Given the description of an element on the screen output the (x, y) to click on. 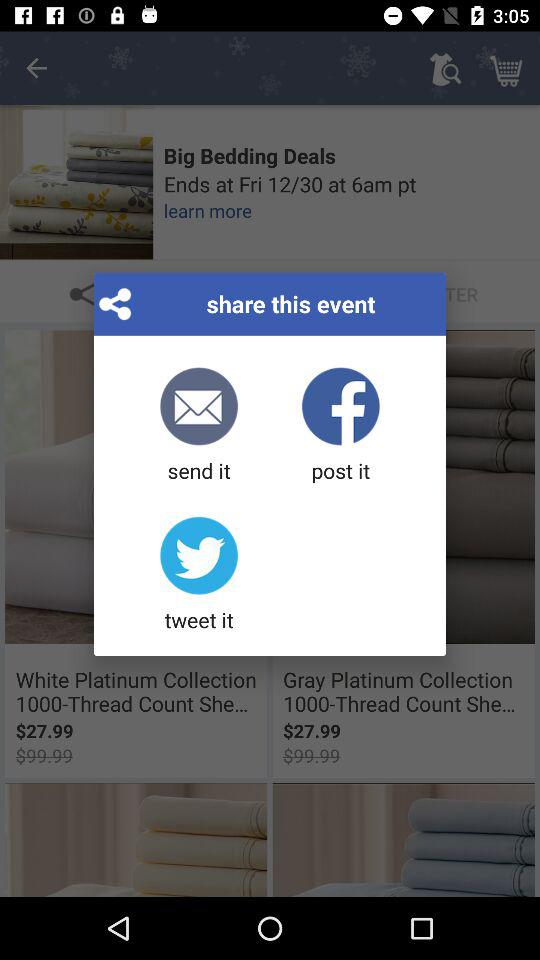
select item below share this event icon (340, 425)
